Given the description of an element on the screen output the (x, y) to click on. 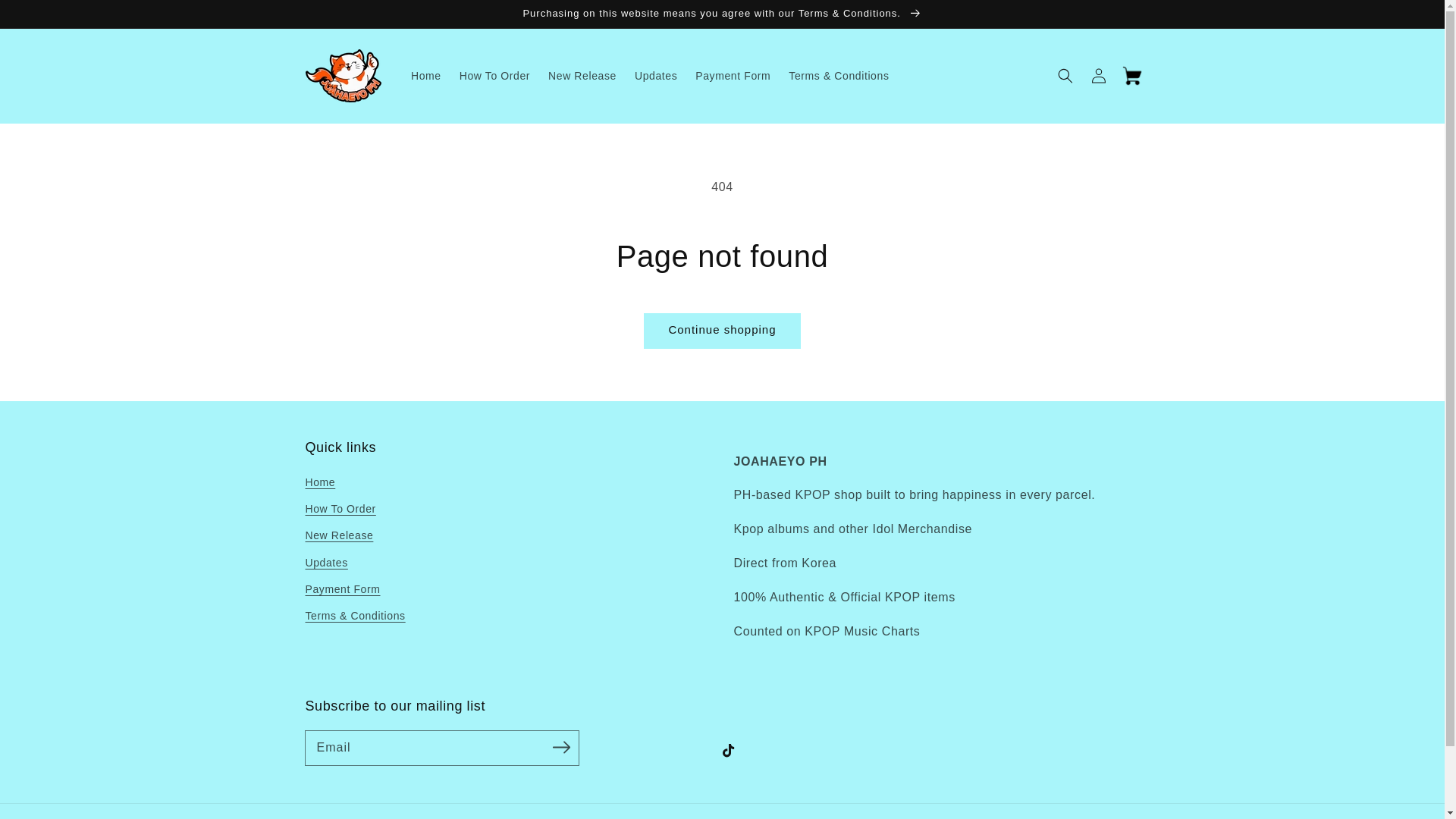
Log in (1098, 75)
Cart (1131, 75)
How To Order (493, 75)
Payment Form (731, 75)
Skip to content (45, 16)
New Release (338, 535)
Home (425, 75)
Updates (325, 562)
Updates (655, 75)
New Release (582, 75)
Home (319, 484)
Payment Form (342, 589)
Continue shopping (722, 330)
How To Order (339, 509)
